Given the description of an element on the screen output the (x, y) to click on. 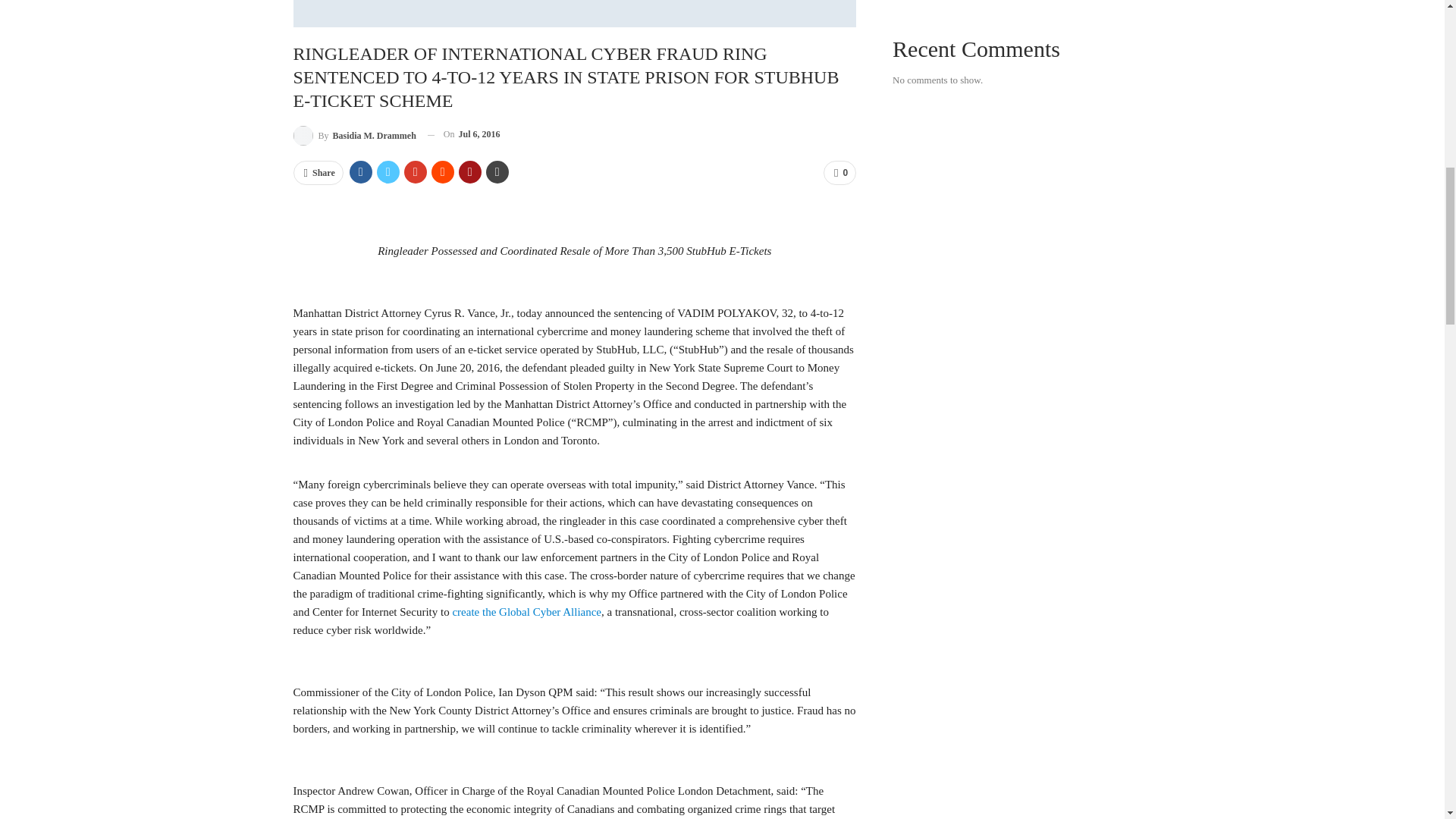
Browse Author Articles (353, 134)
0 (840, 172)
By Basidia M. Drammeh (353, 134)
create the Global Cyber Alliance (526, 612)
